Given the description of an element on the screen output the (x, y) to click on. 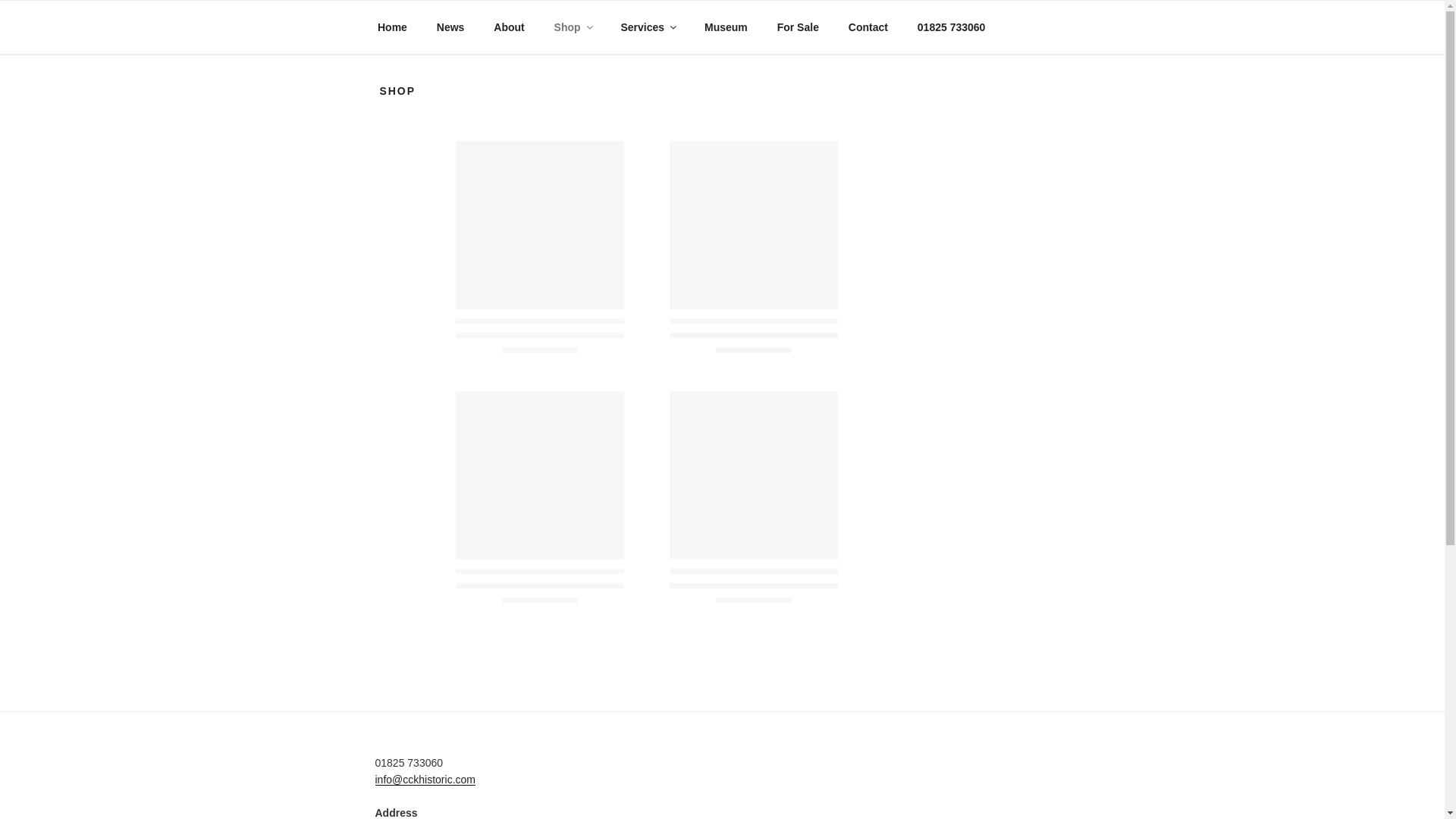
About (508, 27)
01825 733060 (951, 27)
Shop (572, 27)
Contact (867, 27)
News (450, 27)
Museum (725, 27)
About CCK Historic (508, 27)
For Sale (796, 27)
Shop Online (572, 27)
Contact CCK Historic (867, 27)
Home (392, 27)
Services (647, 27)
